Given the description of an element on the screen output the (x, y) to click on. 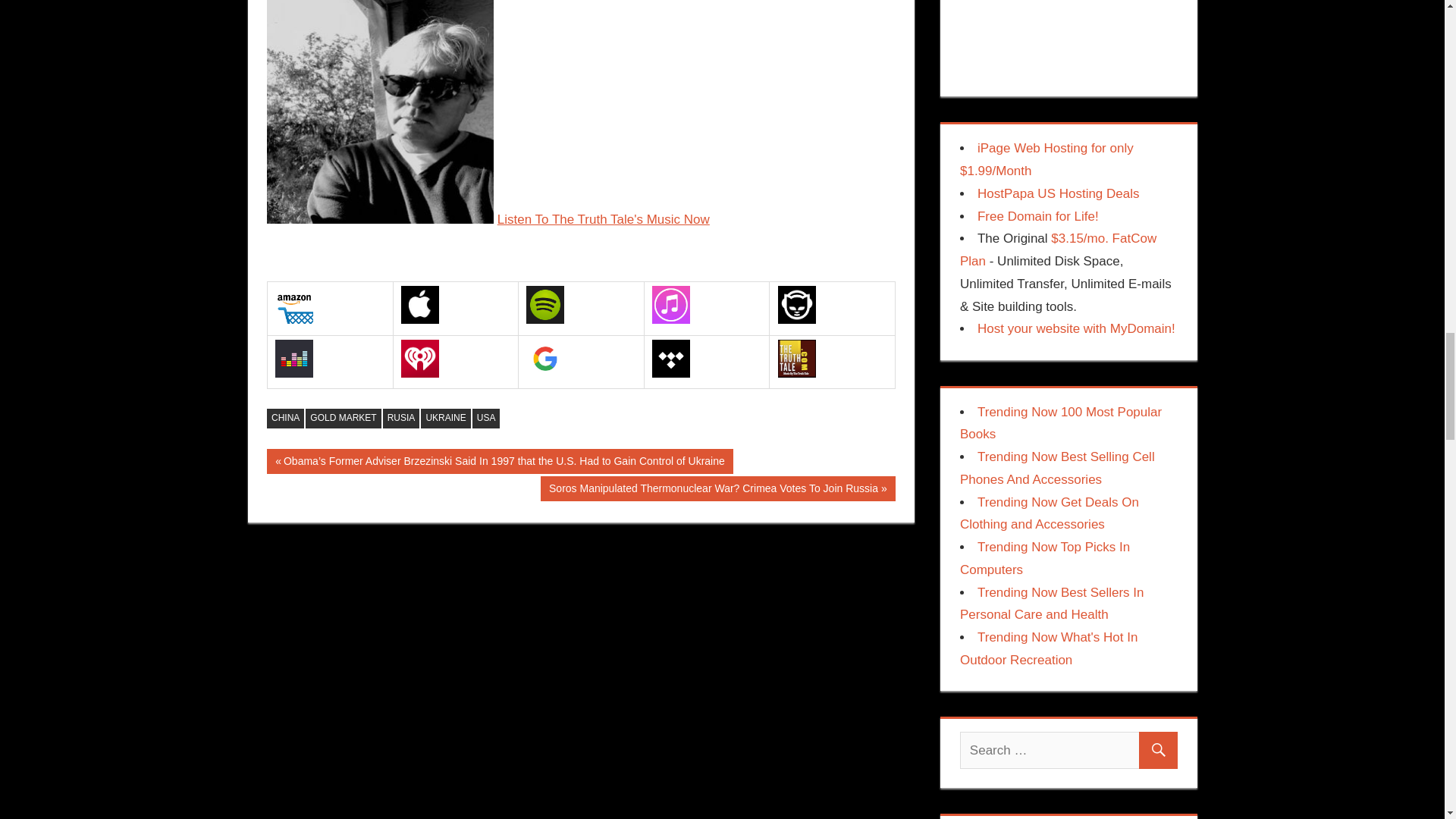
GOLD MARKET (342, 418)
Listen To The Truth Tale's Music Now (603, 219)
Search for: (1068, 750)
CHINA (285, 418)
